Given the description of an element on the screen output the (x, y) to click on. 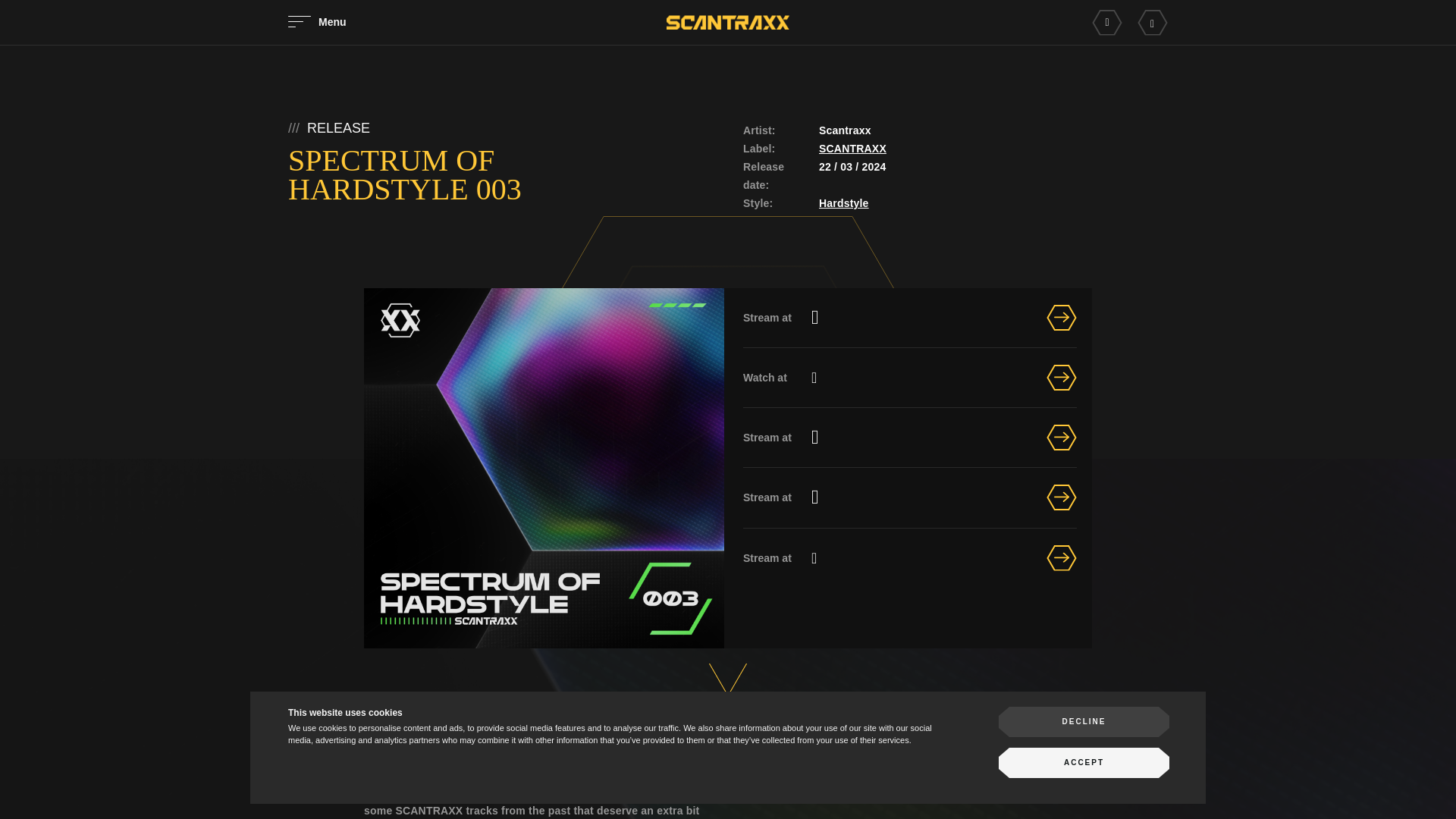
ACCEPT (1083, 762)
DECLINE (1083, 721)
